Given the description of an element on the screen output the (x, y) to click on. 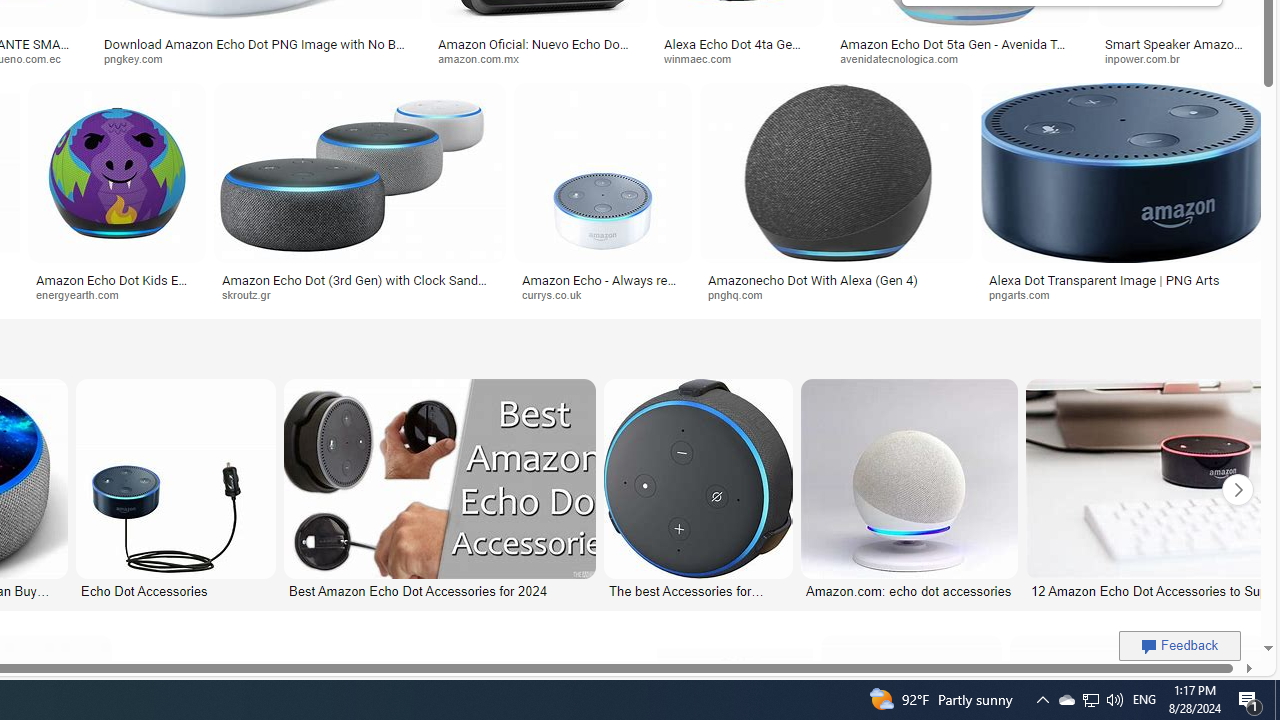
pnghq.com (741, 294)
Amazonecho Dot With Alexa (Gen 4) (836, 279)
Image result for Amazon Echo Dot PNG (1122, 172)
pngarts.com (1123, 295)
amazon.com.mx (538, 58)
Amazon.com: echo dot accessories (909, 589)
pngkey.com (139, 57)
